Given the description of an element on the screen output the (x, y) to click on. 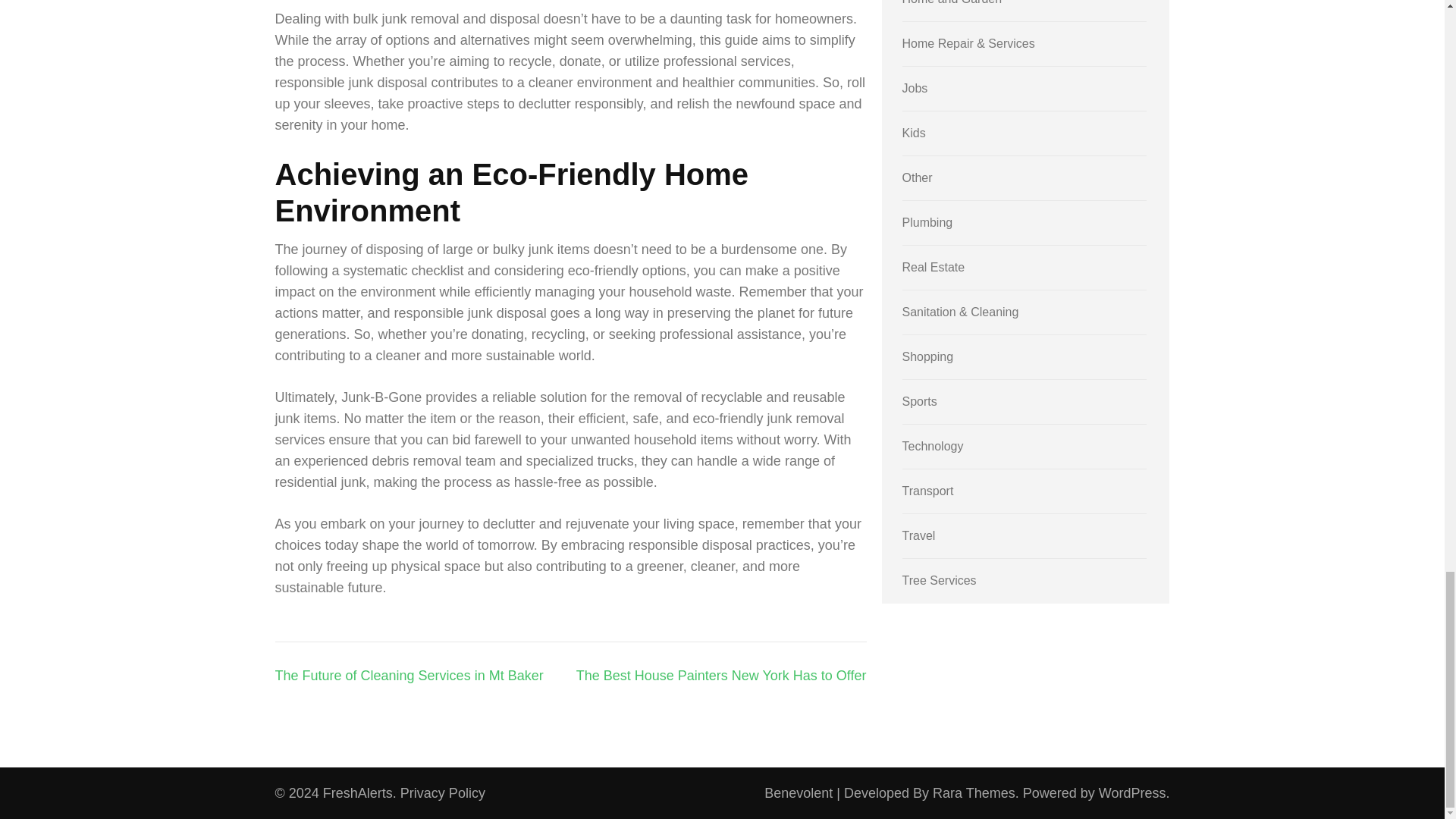
The Best House Painters New York Has to Offer (721, 675)
The Future of Cleaning Services in Mt Baker (409, 675)
